Given the description of an element on the screen output the (x, y) to click on. 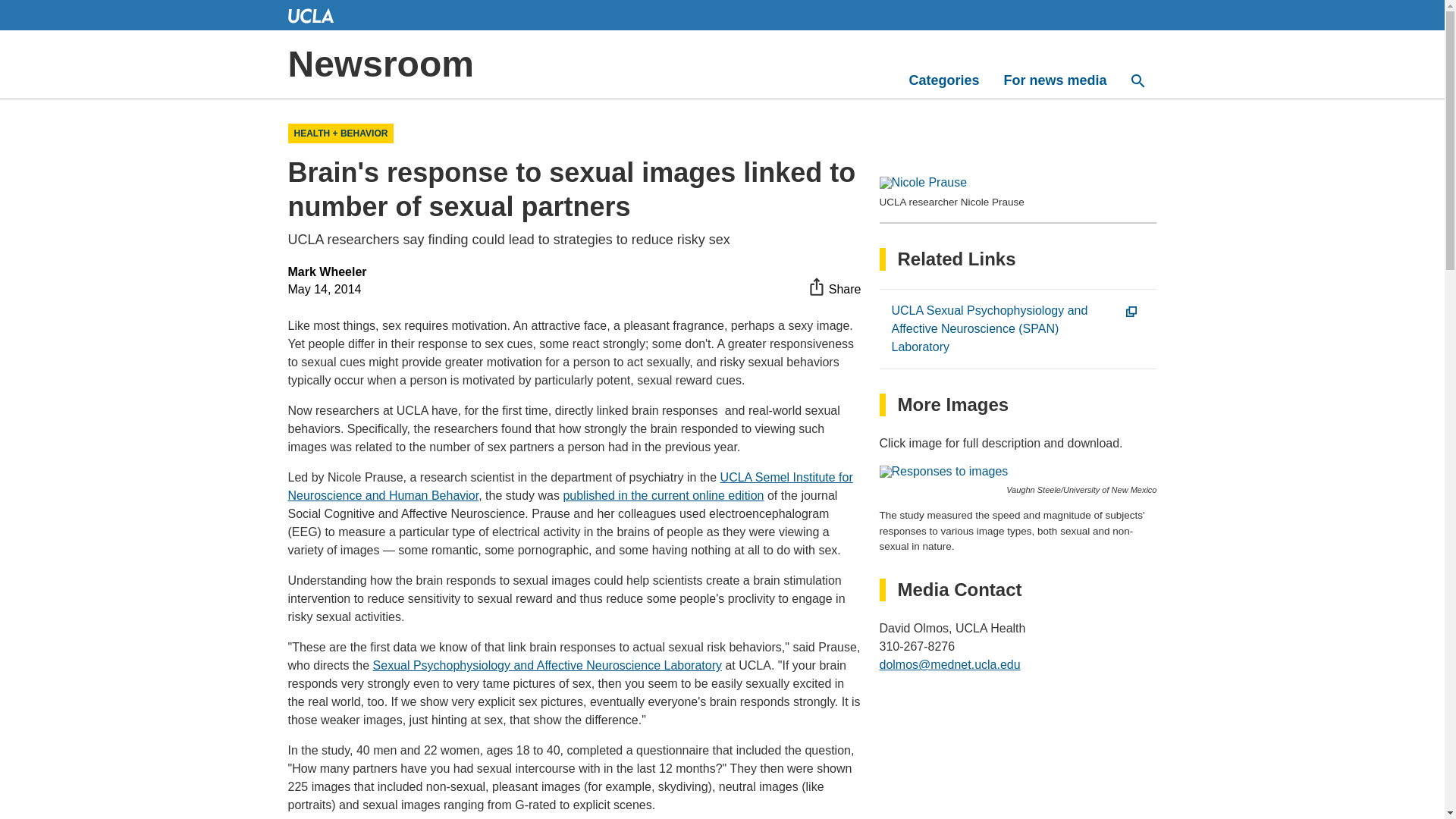
Newsroom (381, 64)
Share (833, 287)
UCLA (310, 15)
For news media (1054, 79)
Toggle search (1138, 80)
Categories (943, 79)
